Given the description of an element on the screen output the (x, y) to click on. 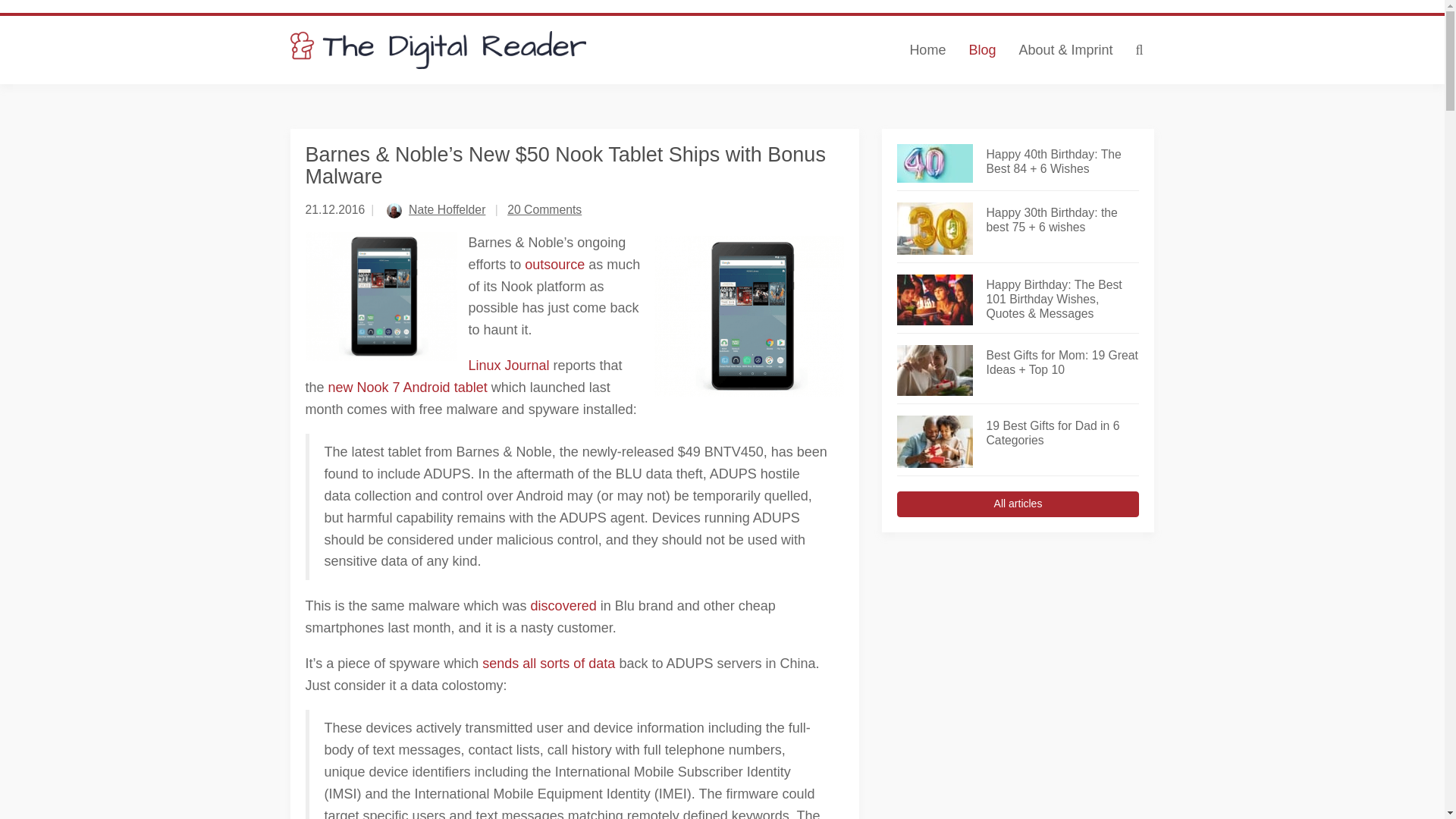
discovered (563, 605)
outsource (554, 264)
The Digital Reader (437, 49)
Linux Journal (509, 365)
Home (927, 49)
sends all sorts of data (547, 663)
Nate Hoffelder (446, 209)
Blog (981, 49)
new Nook 7 Android tablet (408, 387)
20 Comments (543, 209)
